Given the description of an element on the screen output the (x, y) to click on. 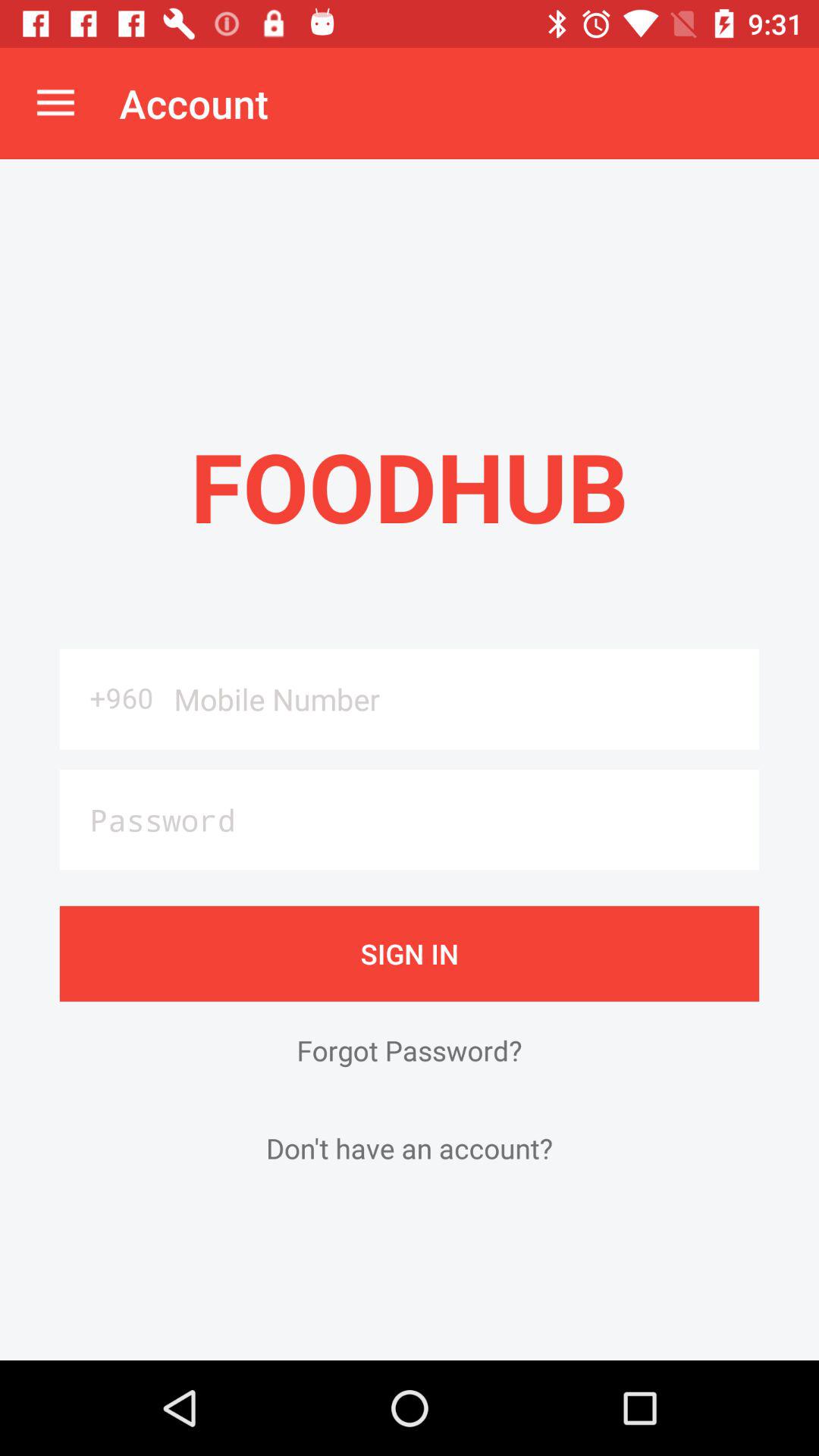
choose the icon to the right of the +960 item (461, 698)
